Given the description of an element on the screen output the (x, y) to click on. 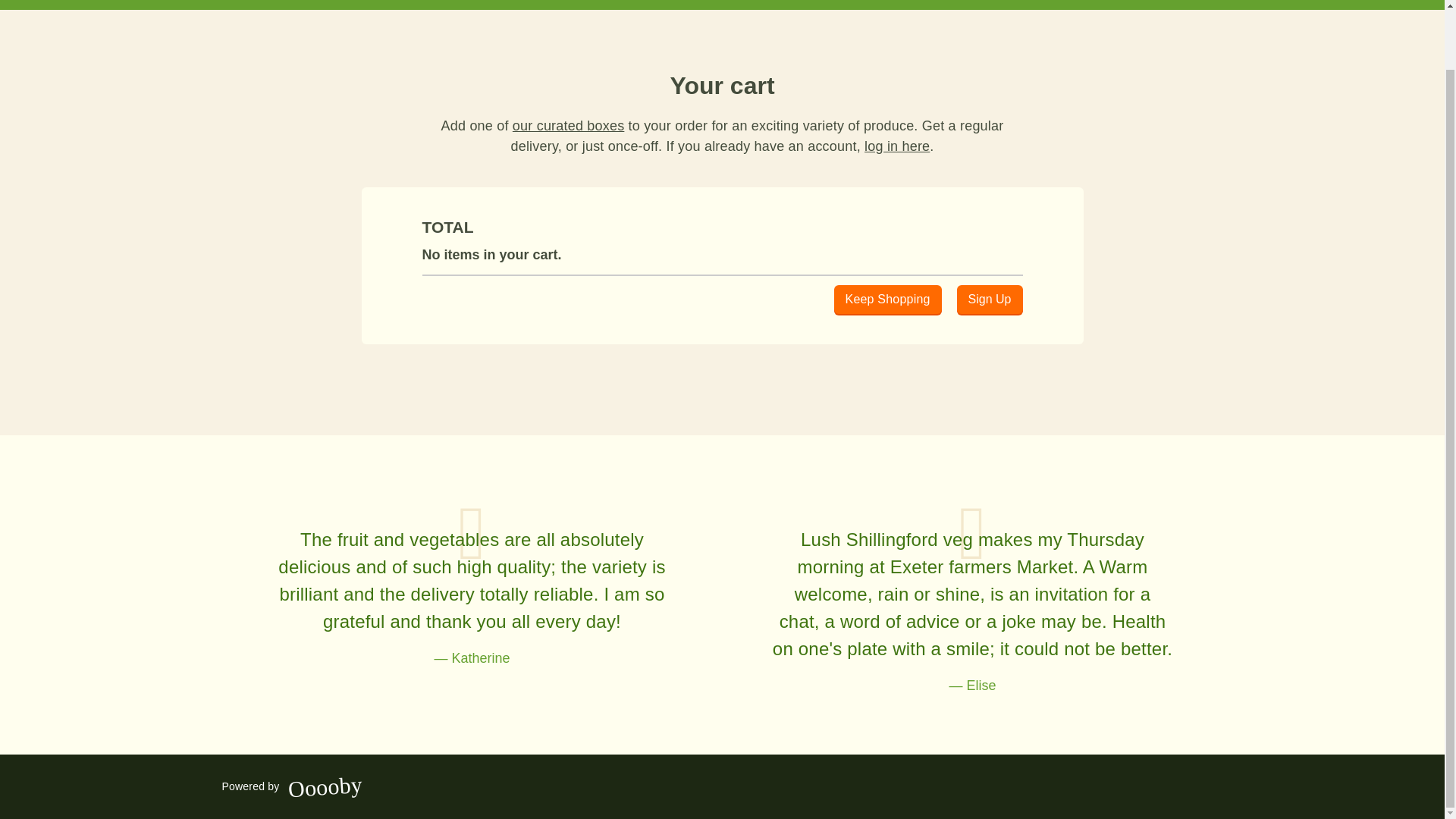
Sign Up (989, 299)
log in here (897, 145)
Ooooby (323, 783)
Keep Shopping (888, 299)
our curated boxes (568, 125)
